Given the description of an element on the screen output the (x, y) to click on. 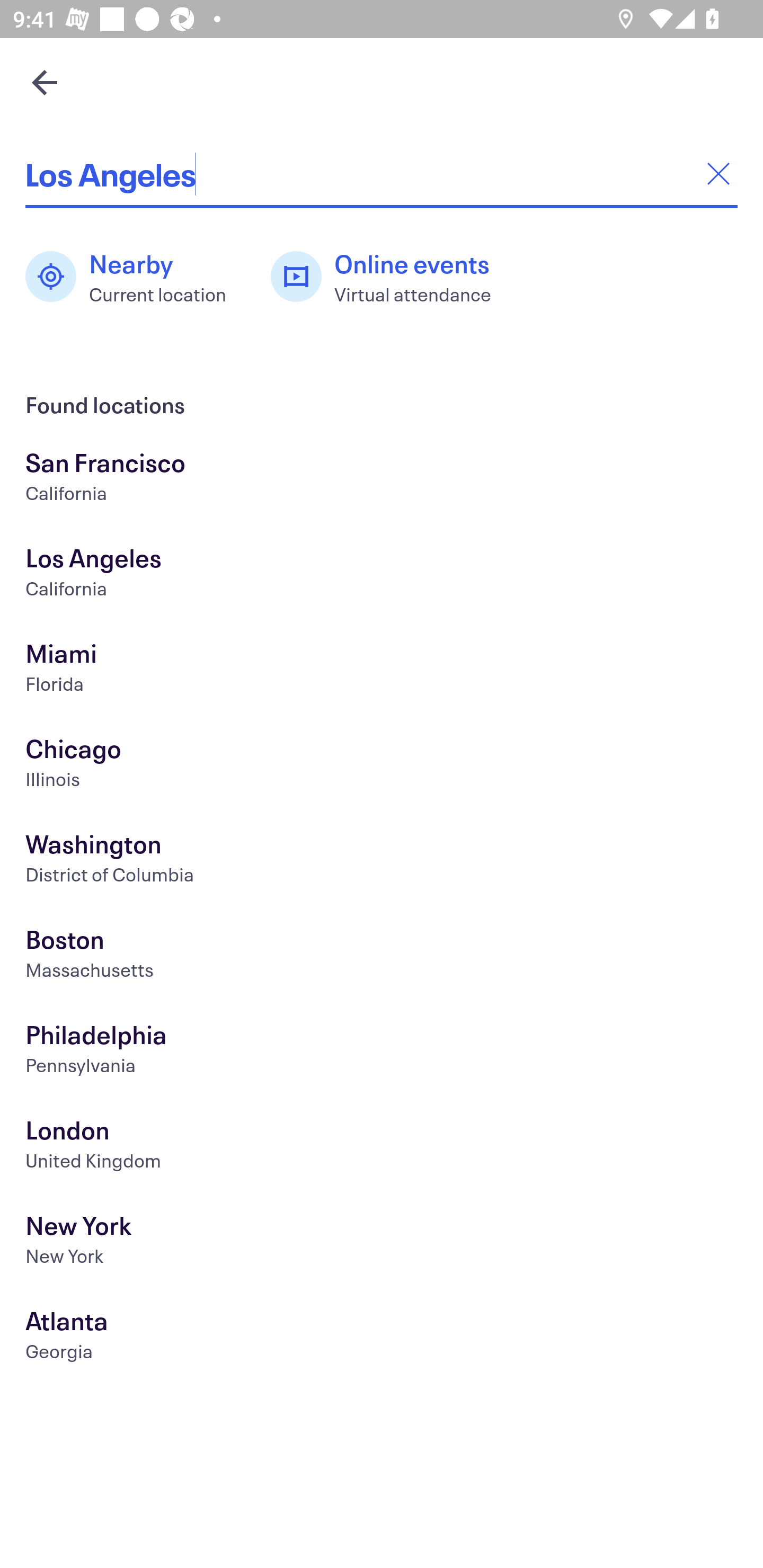
Navigate up (44, 82)
Los Angeles (381, 173)
Nearby Current location (135, 276)
Online events Virtual attendance (390, 276)
San Francisco California (381, 479)
Los Angeles California (381, 574)
Miami Florida (381, 670)
Chicago Illinois (381, 765)
Washington District of Columbia (381, 861)
Boston Massachusetts (381, 955)
Philadelphia Pennsylvania (381, 1051)
London United Kingdom (381, 1146)
New York (381, 1242)
Atlanta Georgia (381, 1338)
